Given the description of an element on the screen output the (x, y) to click on. 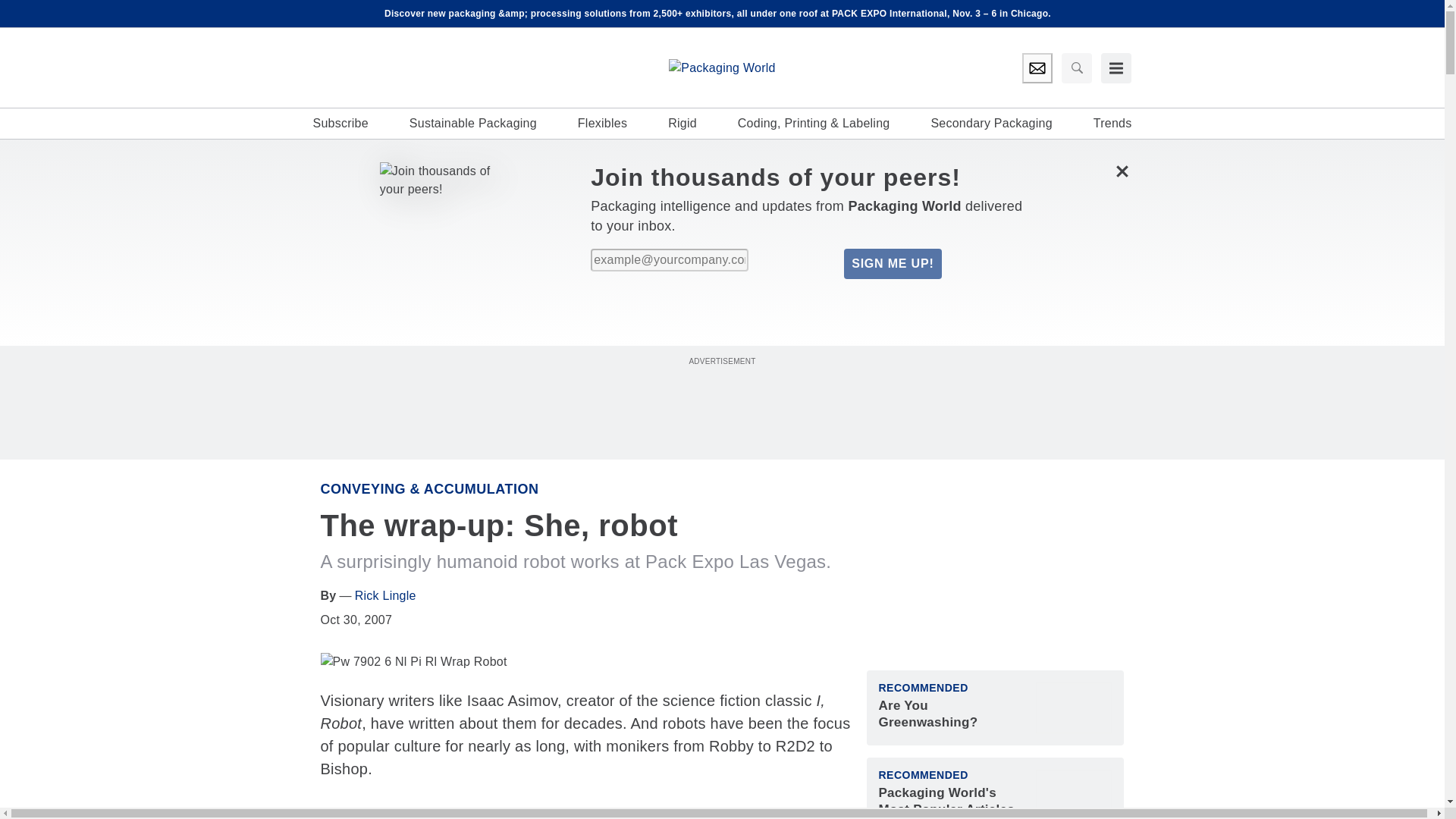
Flexibles (602, 123)
Recommended (922, 687)
Recommended (922, 774)
Secondary Packaging (990, 123)
Subscribe (340, 123)
Trends (1112, 123)
SIGN ME UP! (892, 263)
Rigid (682, 123)
Sustainable Packaging (473, 123)
